Given the description of an element on the screen output the (x, y) to click on. 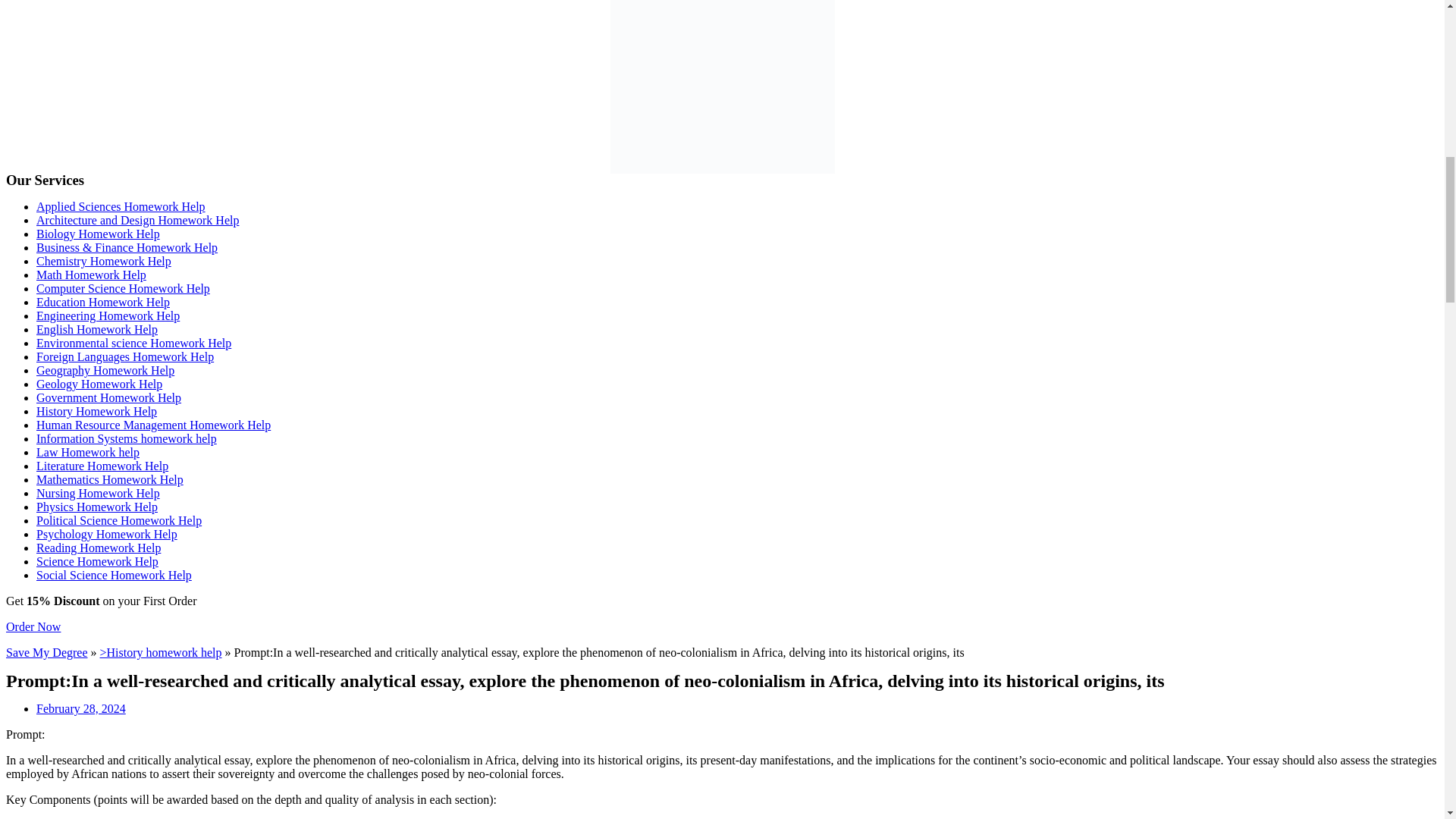
Chemistry Homework Help (103, 260)
Applied Sciences Homework Help (120, 205)
Biology Homework Help (98, 233)
Architecture and Design Homework Help (137, 219)
